Given the description of an element on the screen output the (x, y) to click on. 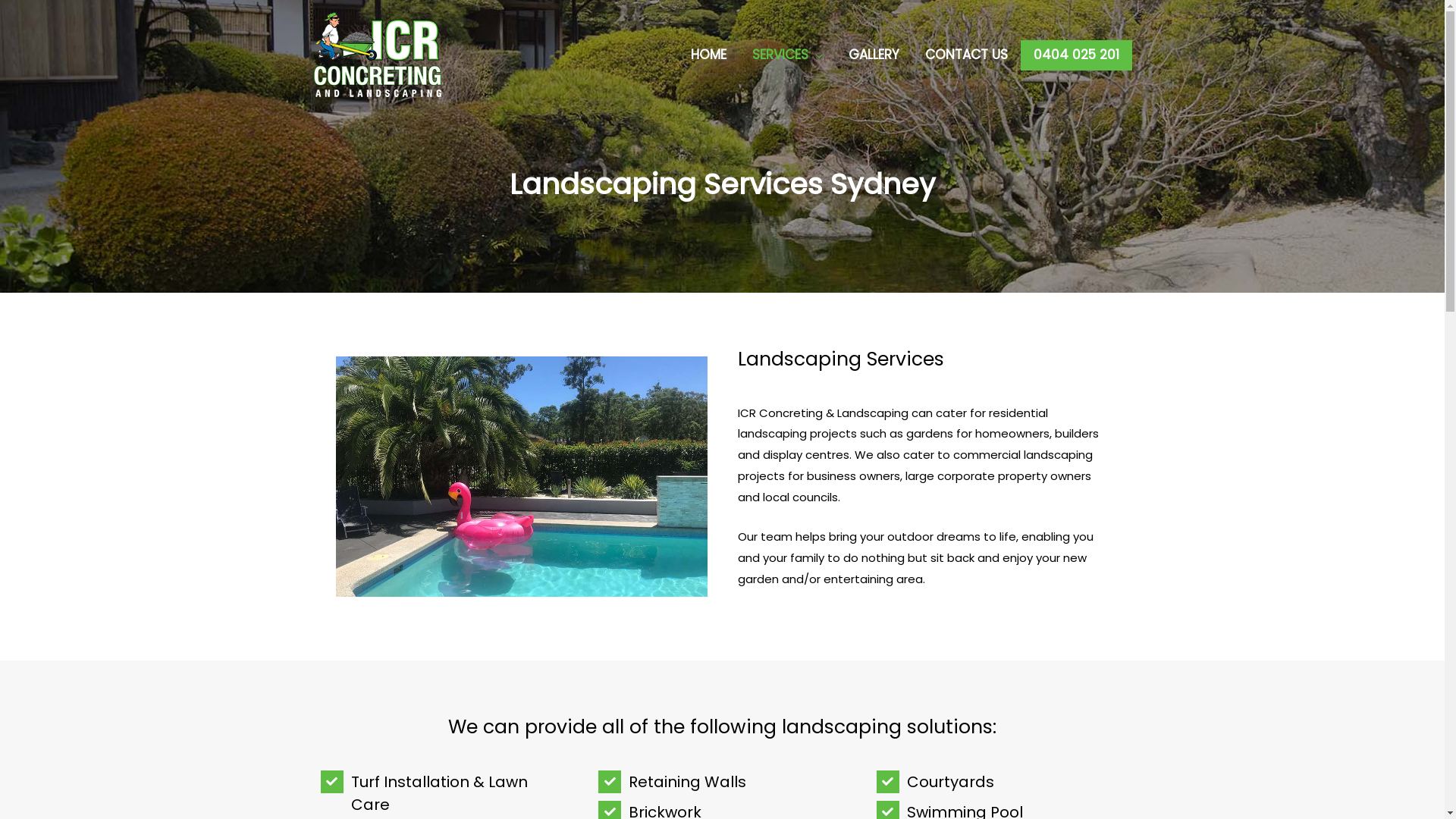
Landscaping Element type: hover (520, 476)
CONTACT US Element type: text (965, 54)
GALLERY Element type: text (873, 54)
HOME Element type: text (708, 54)
0404 025 201 Element type: text (1076, 54)
SERVICES Element type: text (786, 54)
